Given the description of an element on the screen output the (x, y) to click on. 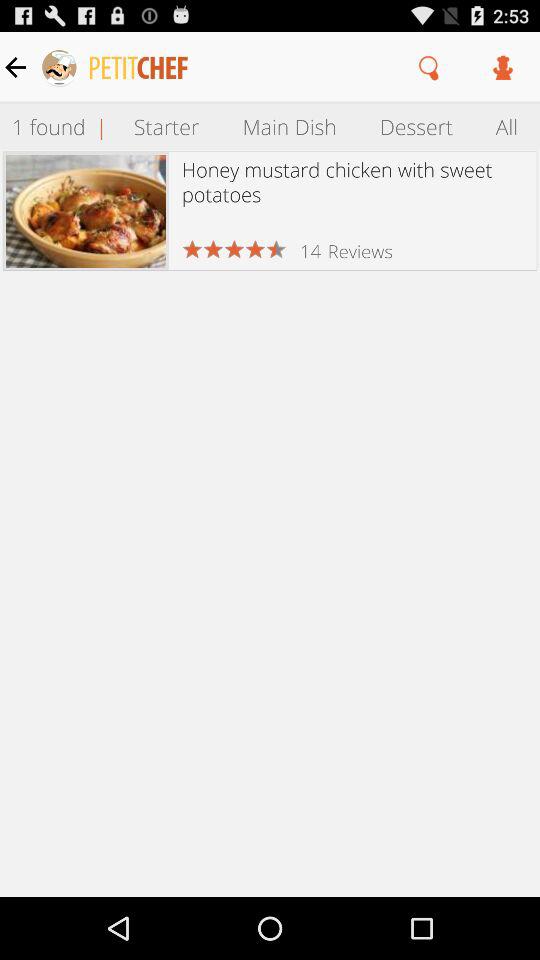
choose the icon below the honey mustard chicken icon (360, 250)
